Given the description of an element on the screen output the (x, y) to click on. 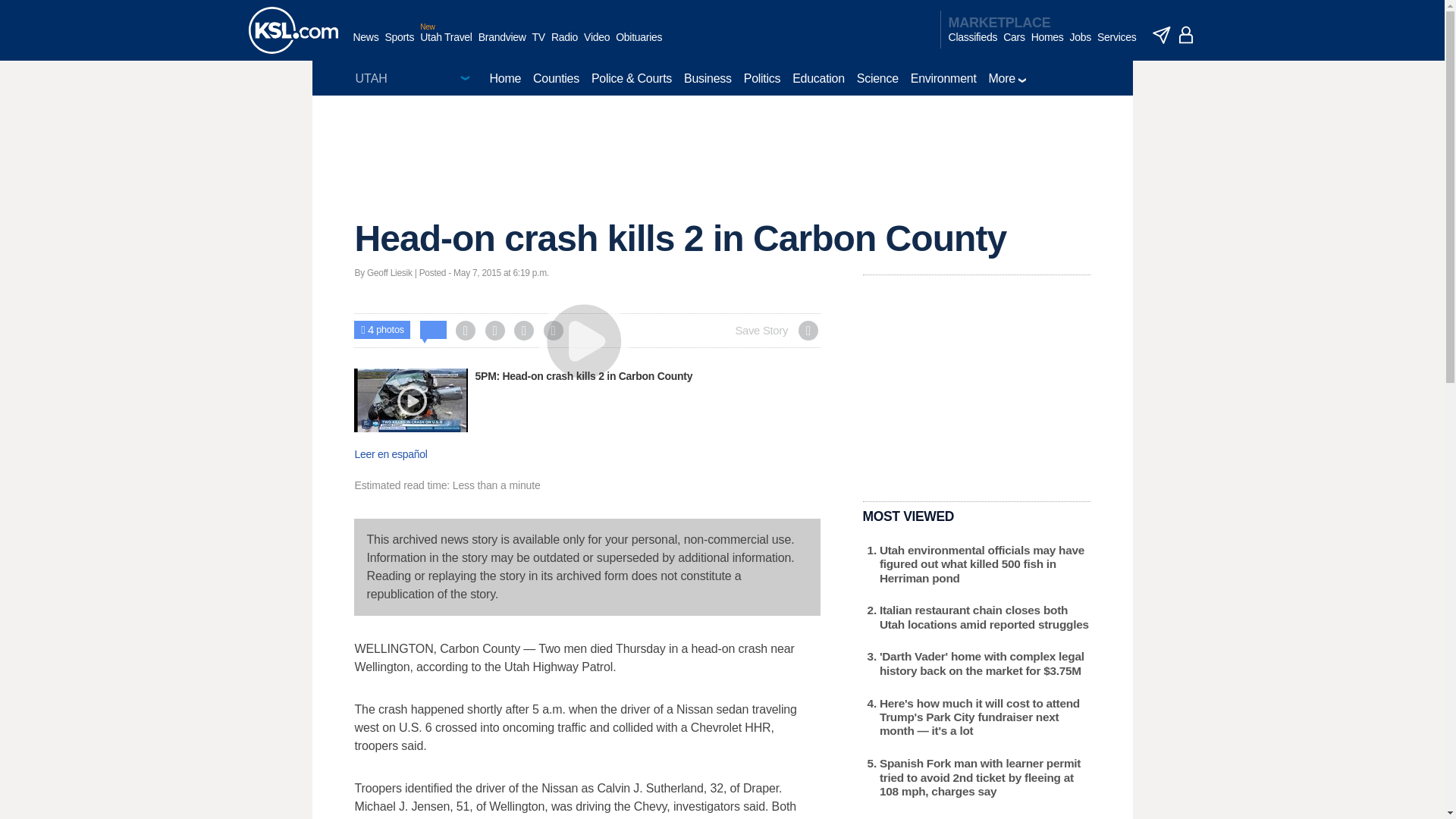
Brandview (502, 45)
Utah Travel (445, 45)
Sports (398, 45)
account - logged out (1185, 34)
KSL homepage (292, 30)
KSL homepage (292, 29)
